Given the description of an element on the screen output the (x, y) to click on. 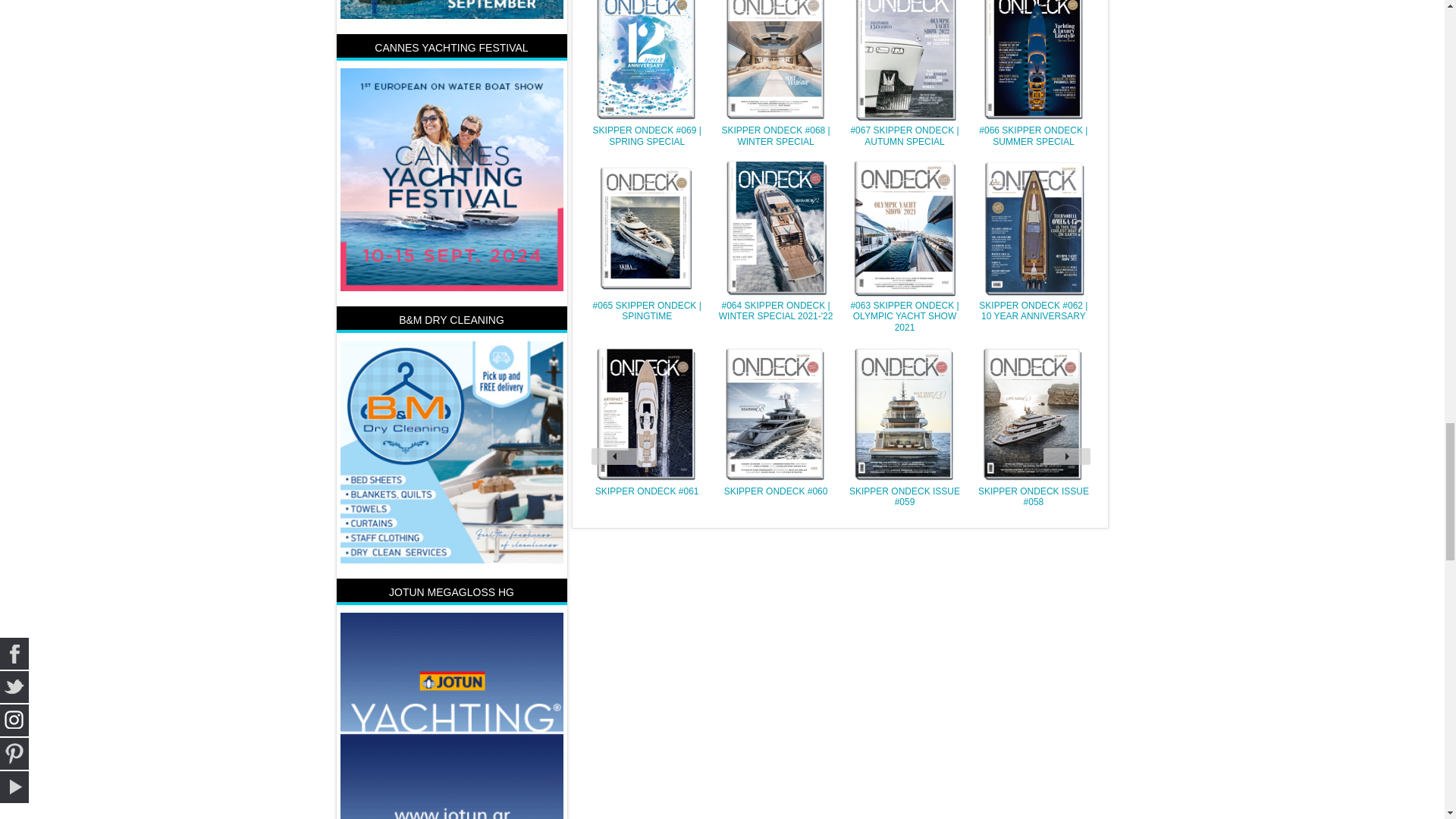
Cannes Yachting Festival (450, 178)
Jotun Mega (450, 723)
